Given the description of an element on the screen output the (x, y) to click on. 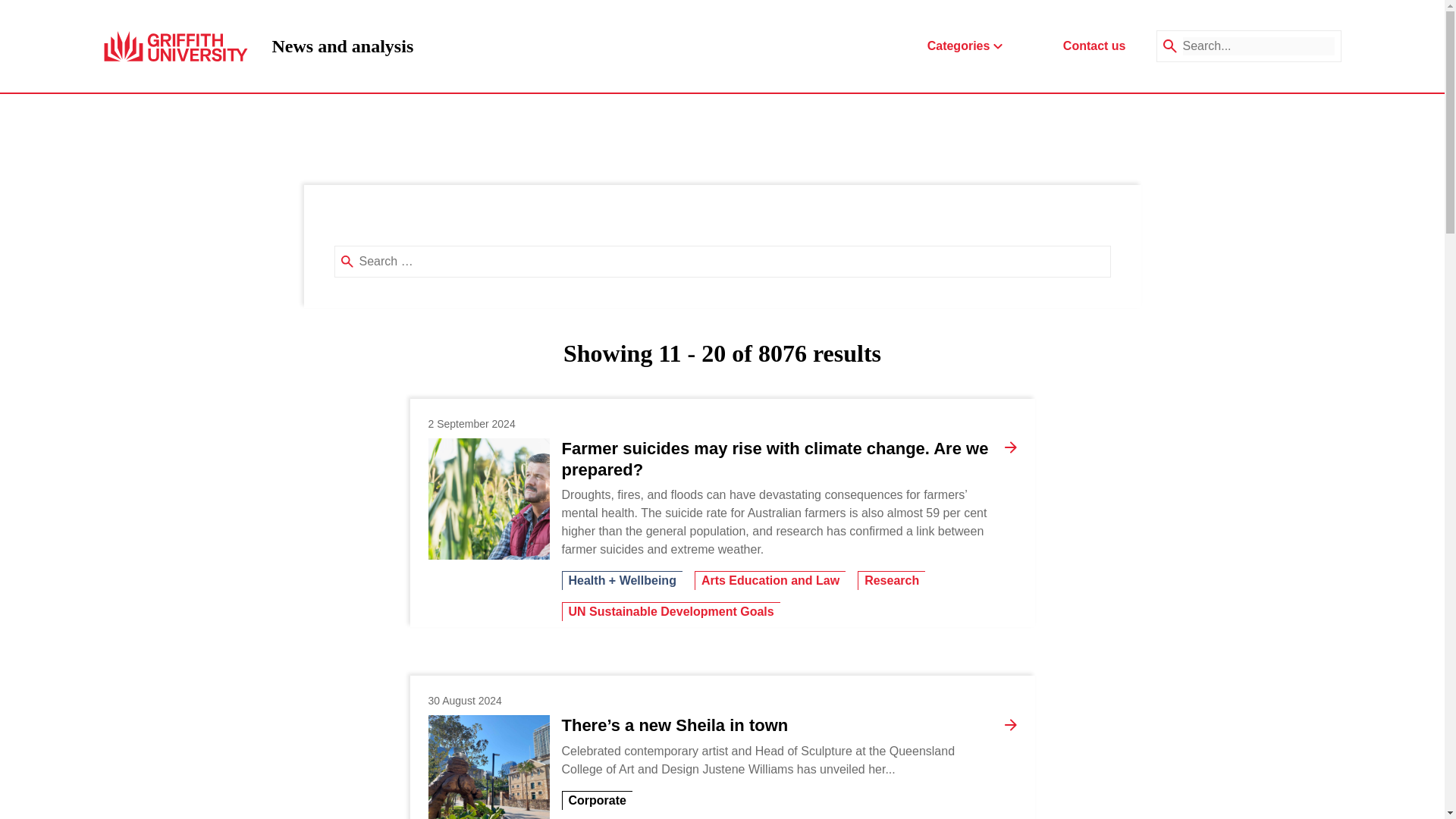
Search for: (731, 261)
Contact us (1093, 45)
UN Sustainable Development Goals (669, 610)
Research (341, 46)
Corporate (890, 579)
Arts Education and Law (595, 800)
